Given the description of an element on the screen output the (x, y) to click on. 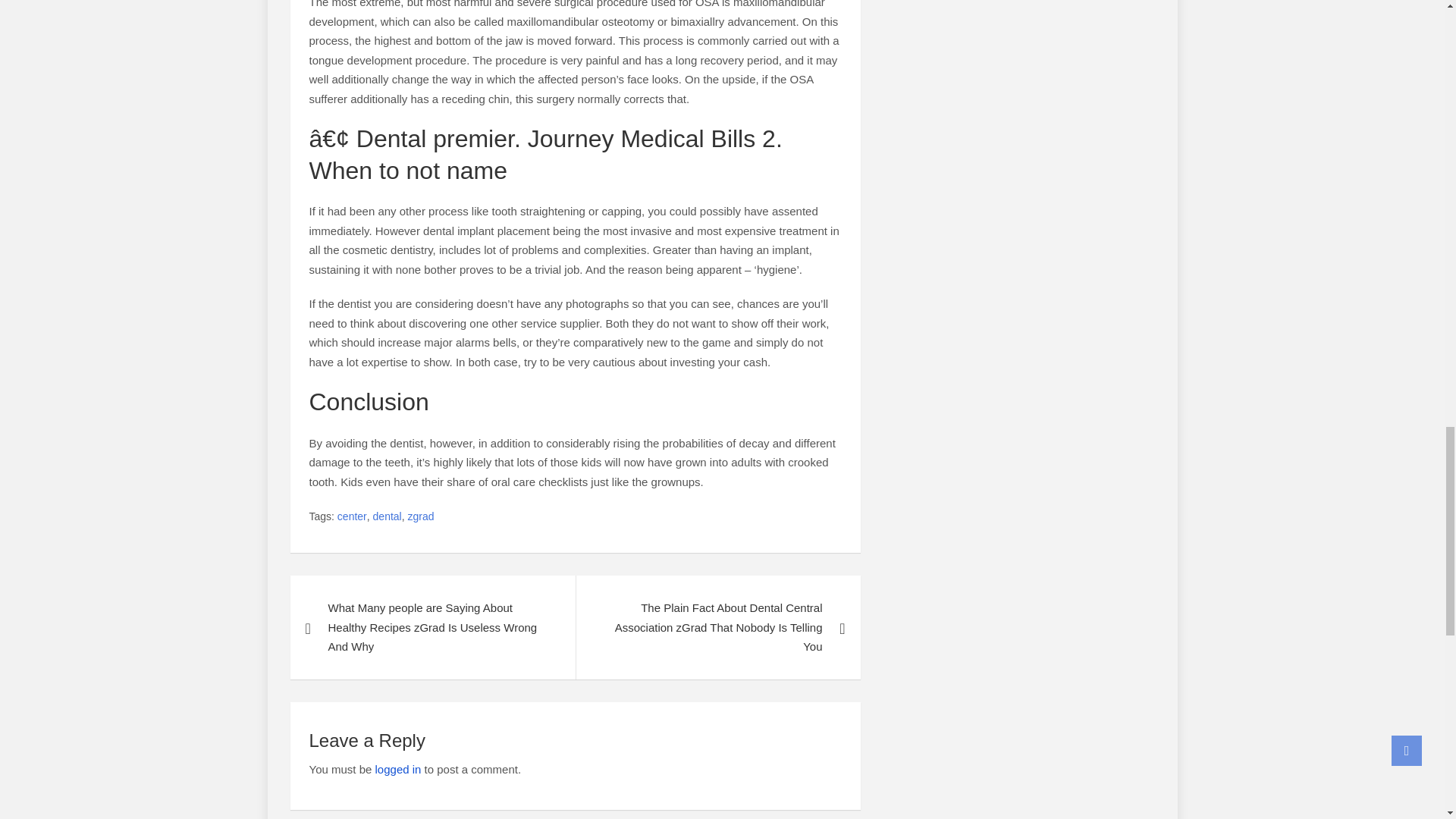
logged in (398, 768)
zgrad (420, 516)
center (351, 516)
dental (386, 516)
